Given the description of an element on the screen output the (x, y) to click on. 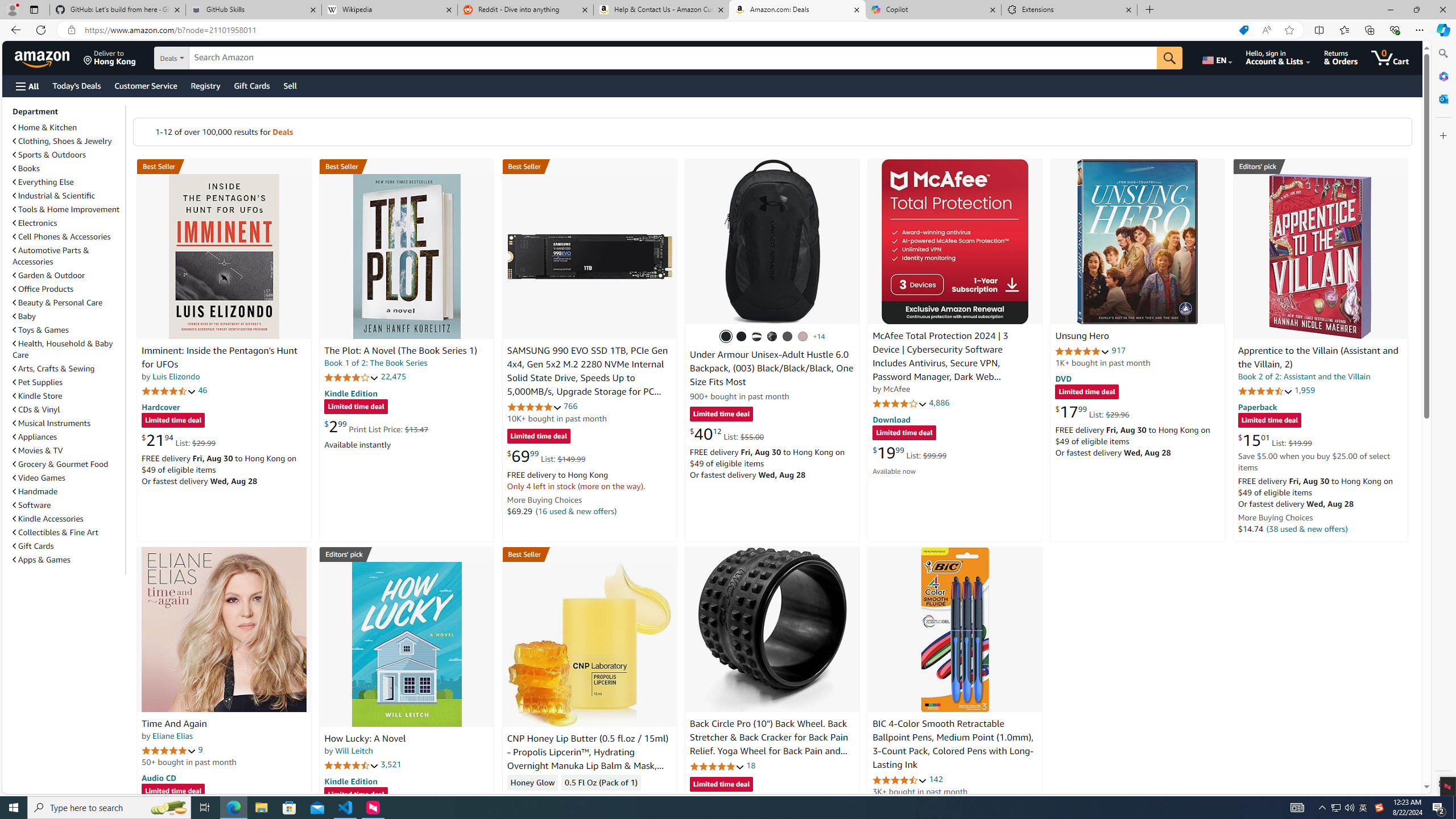
Book 2 of 2: Assistant and the Villain (1303, 376)
Garden & Outdoor (49, 275)
Time And Again (173, 723)
(005) Black Full Heather / Black / Metallic Gold (788, 336)
Industrial & Scientific (54, 195)
$17.99 List: $29.96 (1092, 411)
Apps & Games (67, 559)
Baby (24, 316)
Electronics (67, 222)
Time And Again (224, 628)
